Given the description of an element on the screen output the (x, y) to click on. 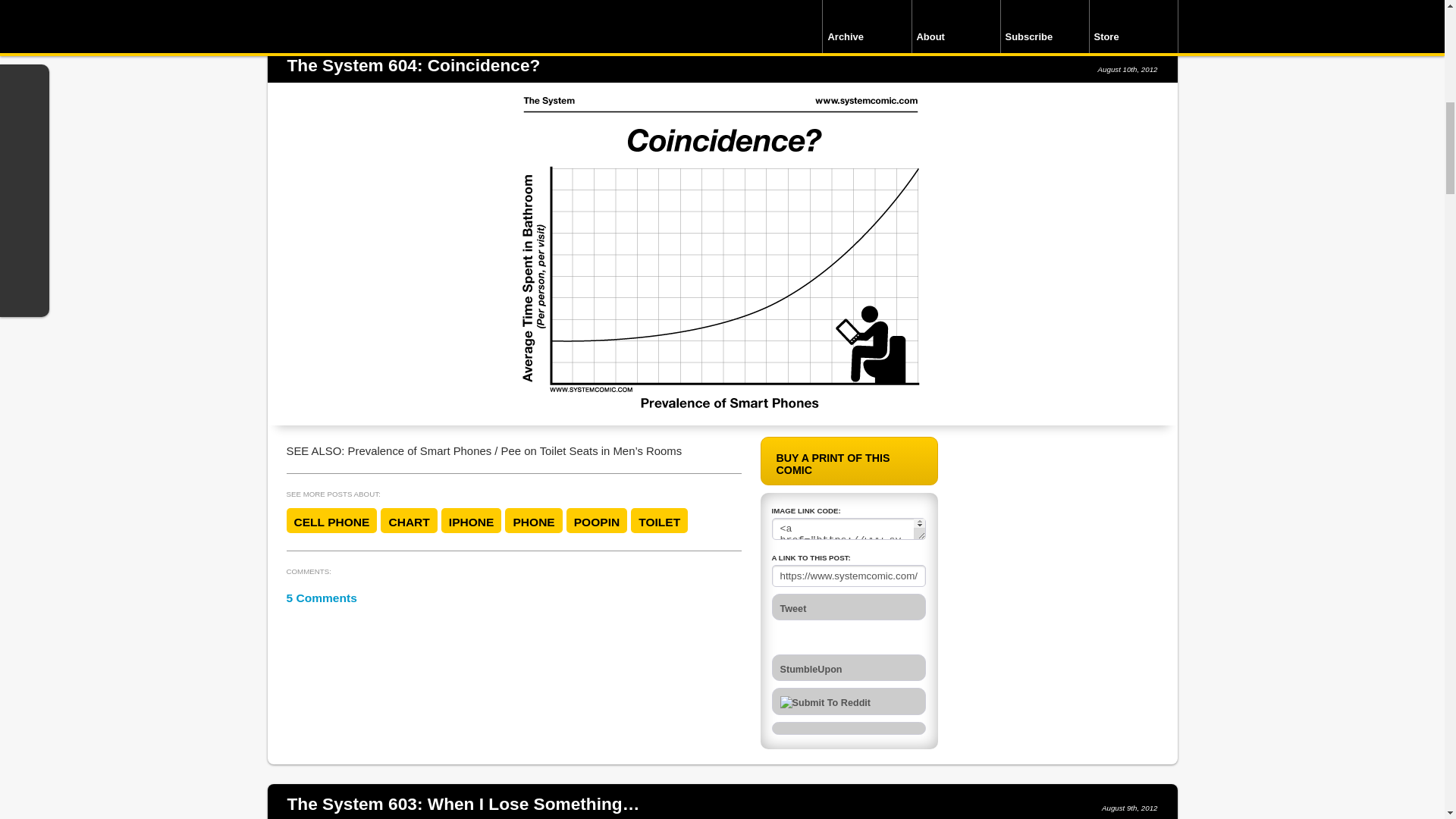
BUY A PRINT OF THIS COMIC (848, 460)
5 Comments (321, 597)
CHART (408, 520)
PHONE (533, 520)
POOPIN (596, 520)
StumbleUpon (848, 667)
Tweet (848, 606)
IPHONE (471, 520)
TOILET (658, 520)
The System 604: Coincidence? (413, 65)
